Given the description of an element on the screen output the (x, y) to click on. 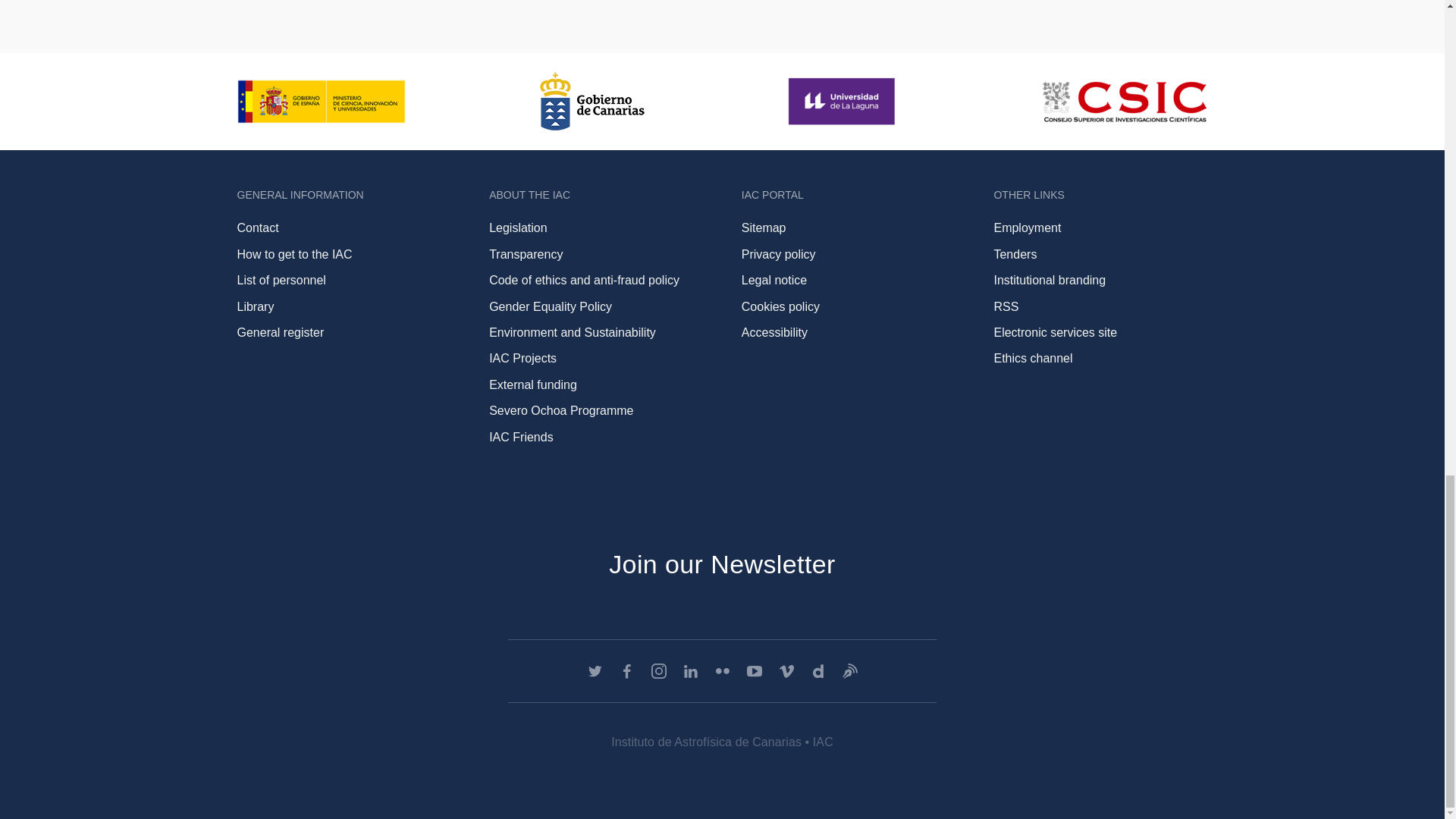
Electronic services site (1054, 332)
Gobierno de Canarias (591, 101)
CSIC (1124, 101)
Universidad de La Laguna (842, 101)
